Given the description of an element on the screen output the (x, y) to click on. 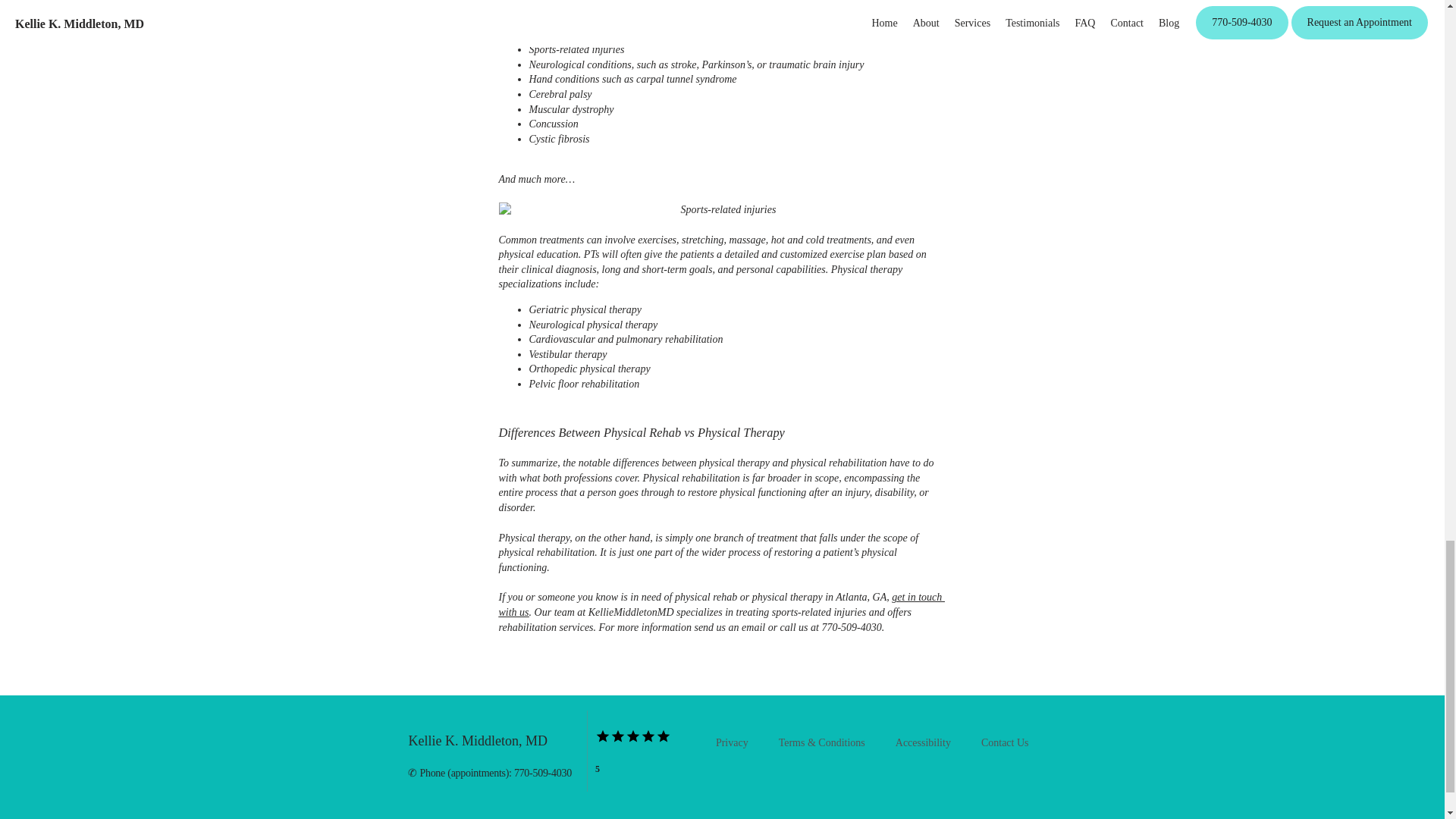
get in touch with us (721, 604)
Contact Us (1005, 742)
Accessibility (922, 742)
Privacy (732, 742)
